Given the description of an element on the screen output the (x, y) to click on. 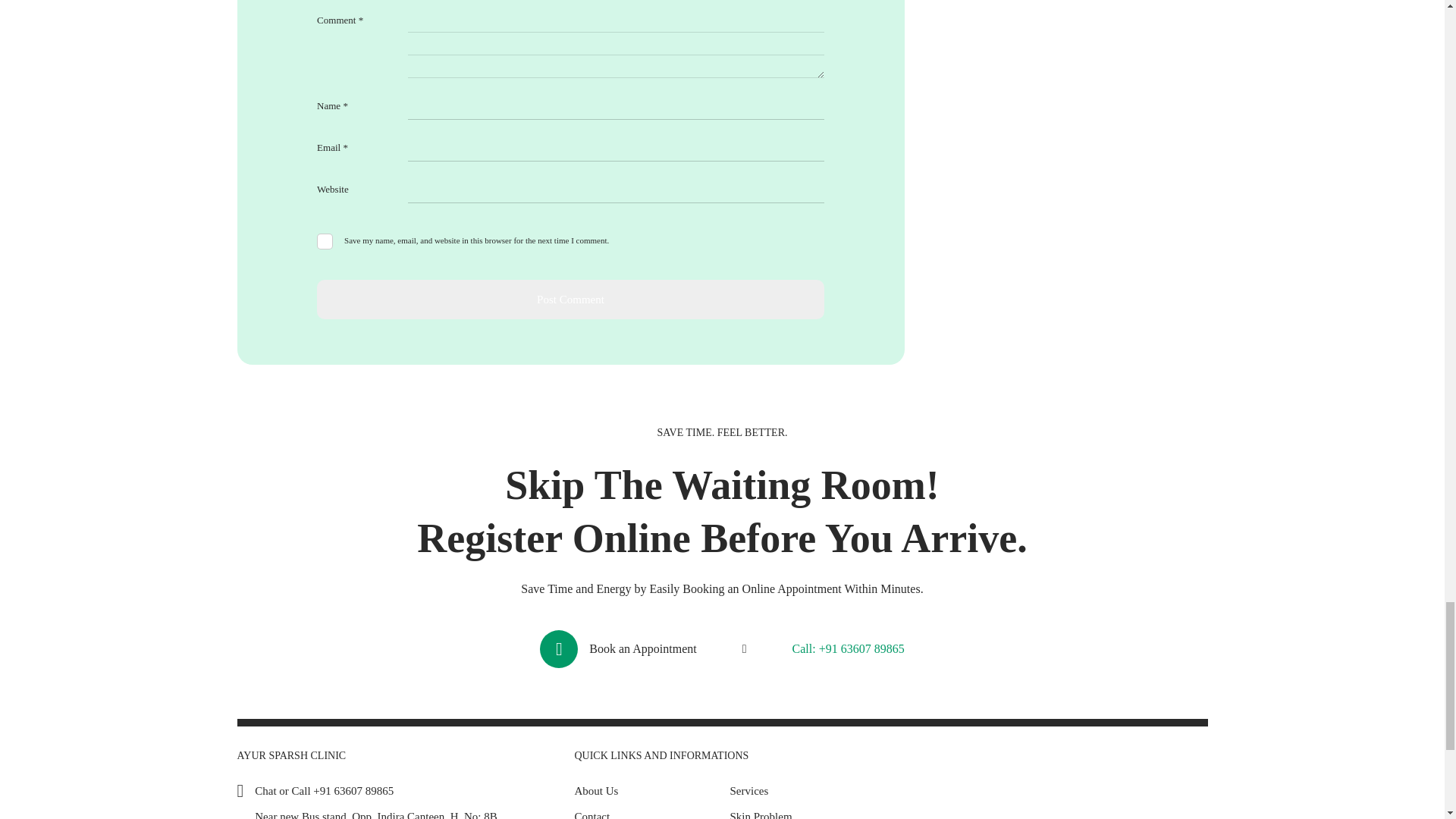
yes (325, 241)
Post Comment (570, 299)
Post Comment (570, 299)
